Given the description of an element on the screen output the (x, y) to click on. 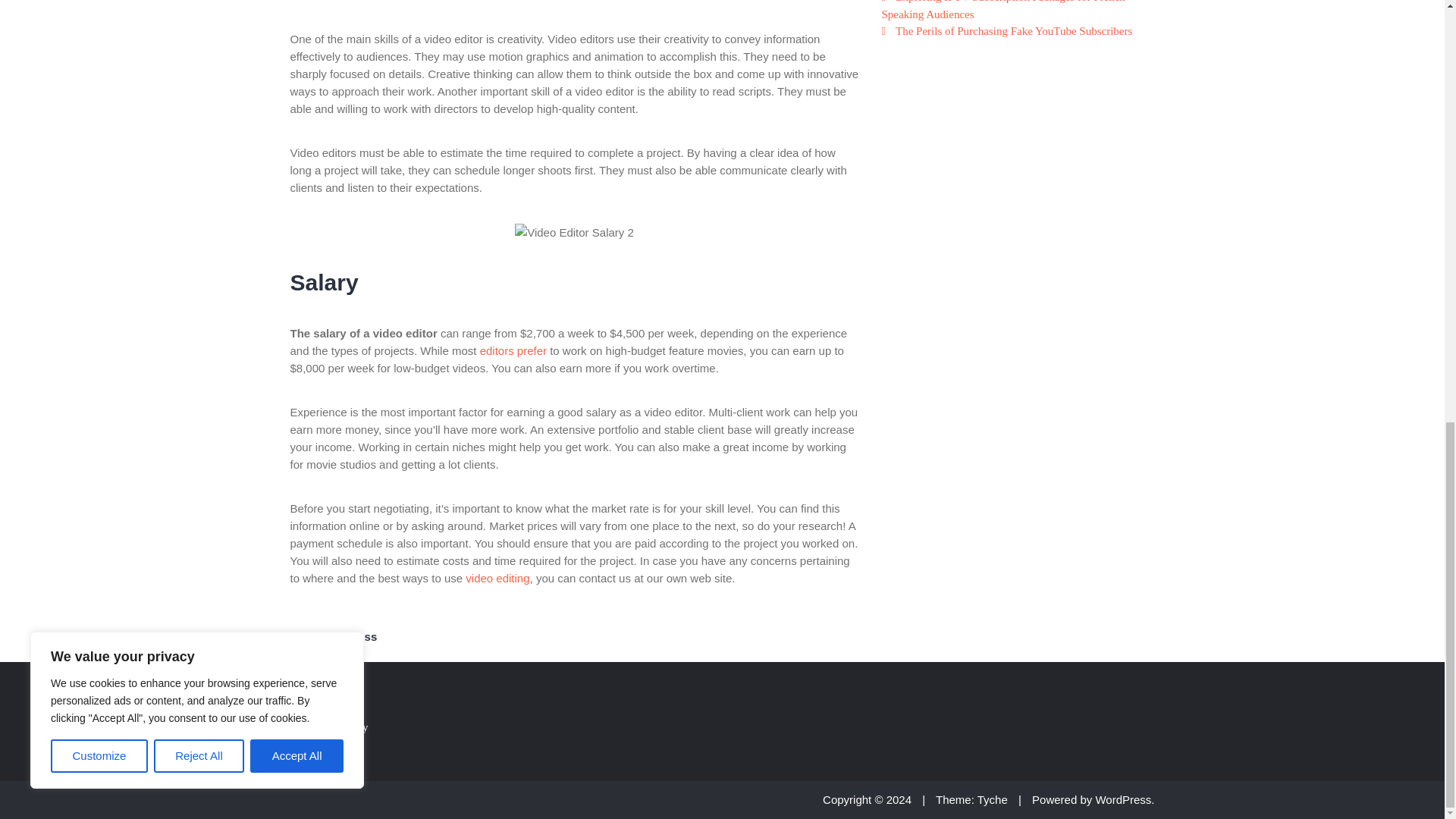
business (352, 635)
video editing (497, 577)
editors prefer (513, 350)
